Given the description of an element on the screen output the (x, y) to click on. 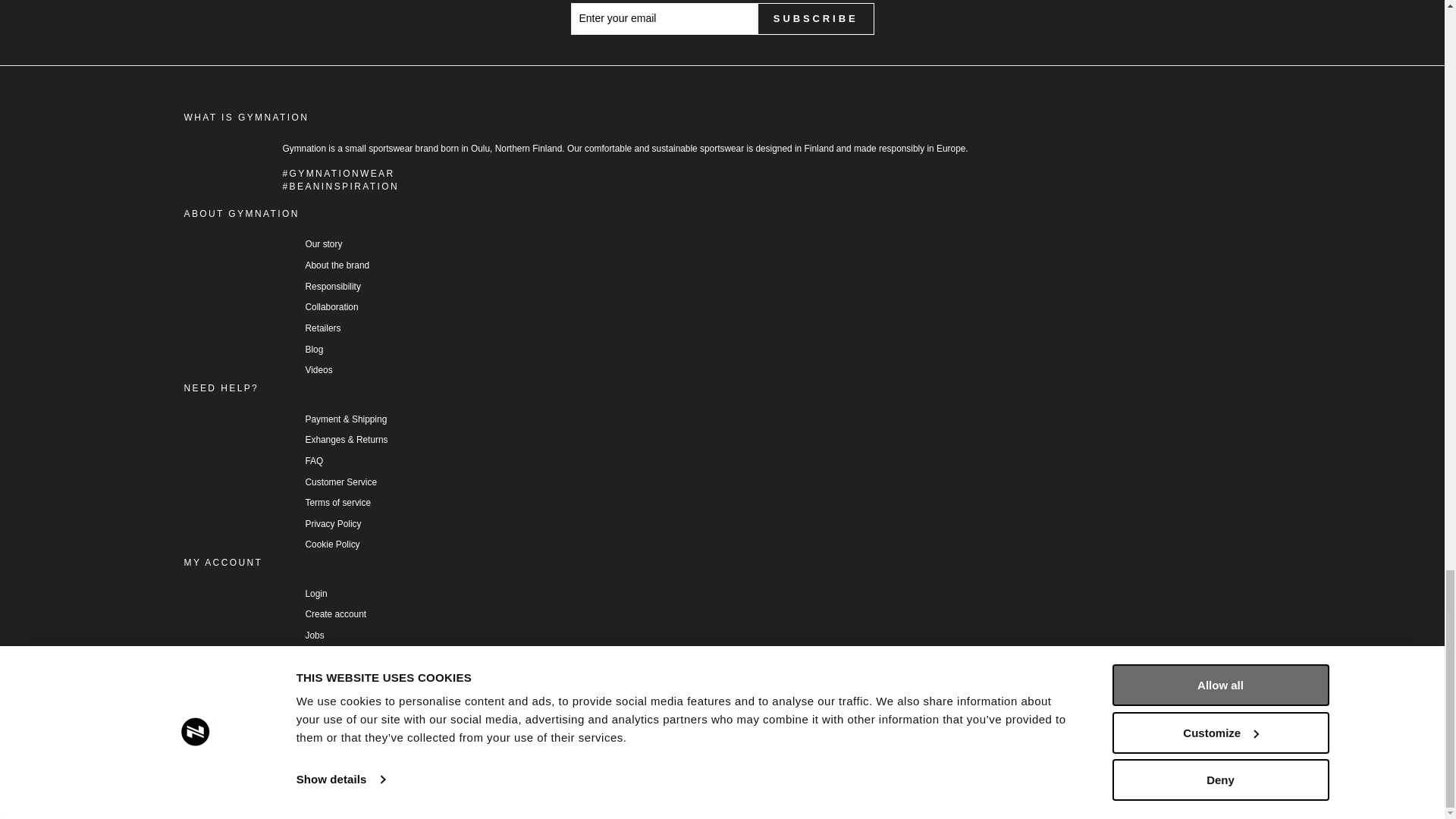
Maestro (314, 720)
Google Pay (276, 720)
Shop Pay (427, 720)
Visa (503, 720)
American Express (200, 720)
PayPal (389, 720)
Mastercard (351, 720)
Apple Pay (238, 720)
Union Pay (465, 720)
